Given the description of an element on the screen output the (x, y) to click on. 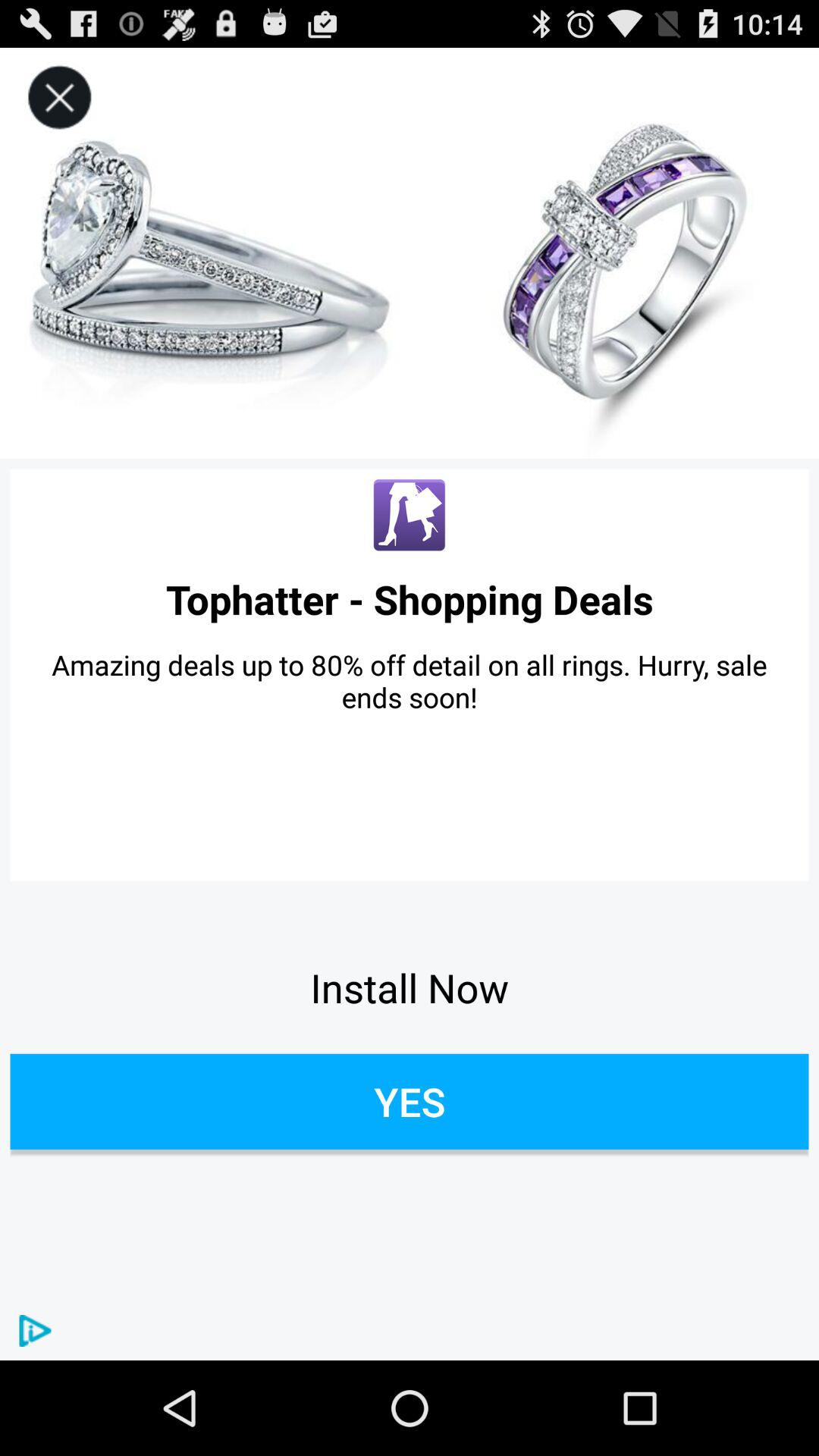
flip to the yes button (409, 1101)
